Given the description of an element on the screen output the (x, y) to click on. 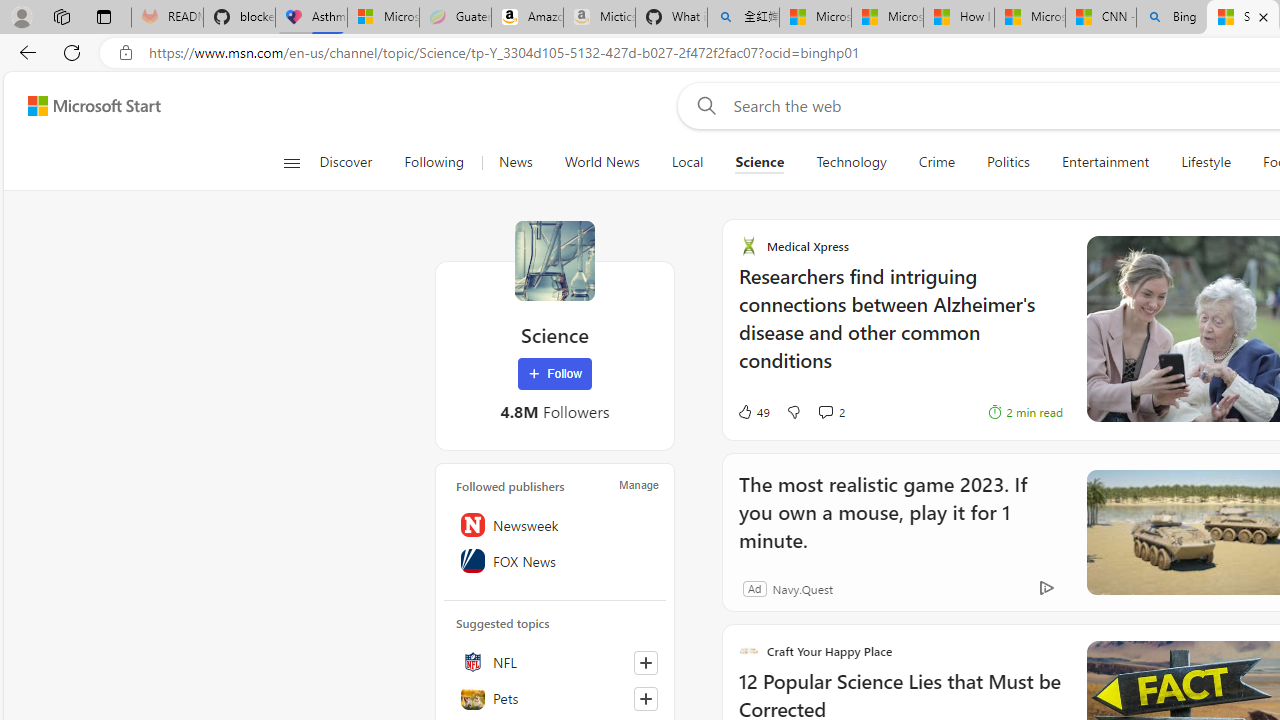
Refresh (72, 52)
Entertainment (1105, 162)
Following (433, 162)
FOX News (555, 561)
Following (434, 162)
Newsweek (555, 525)
